Given the description of an element on the screen output the (x, y) to click on. 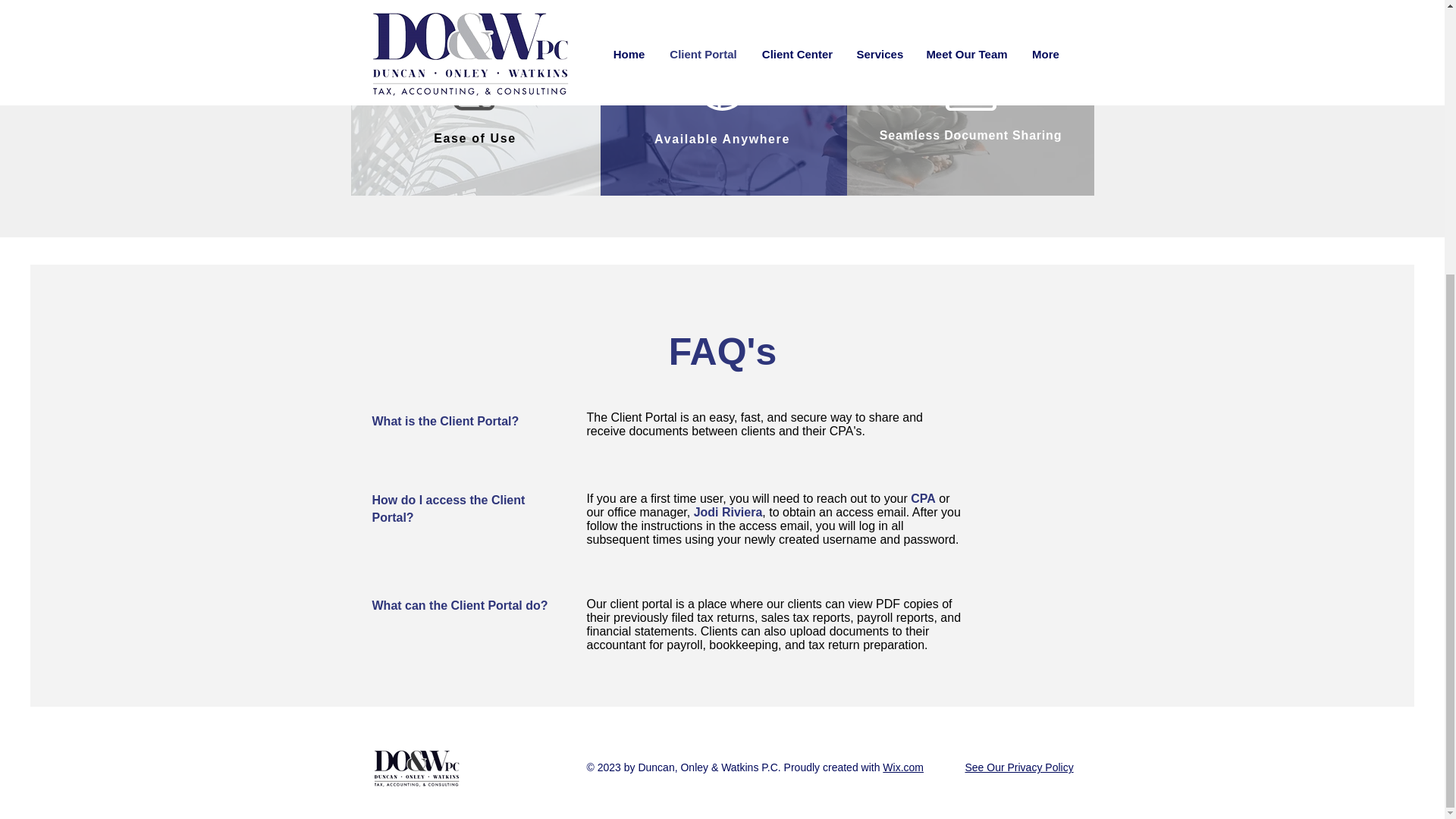
CPA (923, 498)
Wix.com (902, 767)
Jodi Riviera (728, 512)
See Our Privacy Policy (1018, 767)
